Given the description of an element on the screen output the (x, y) to click on. 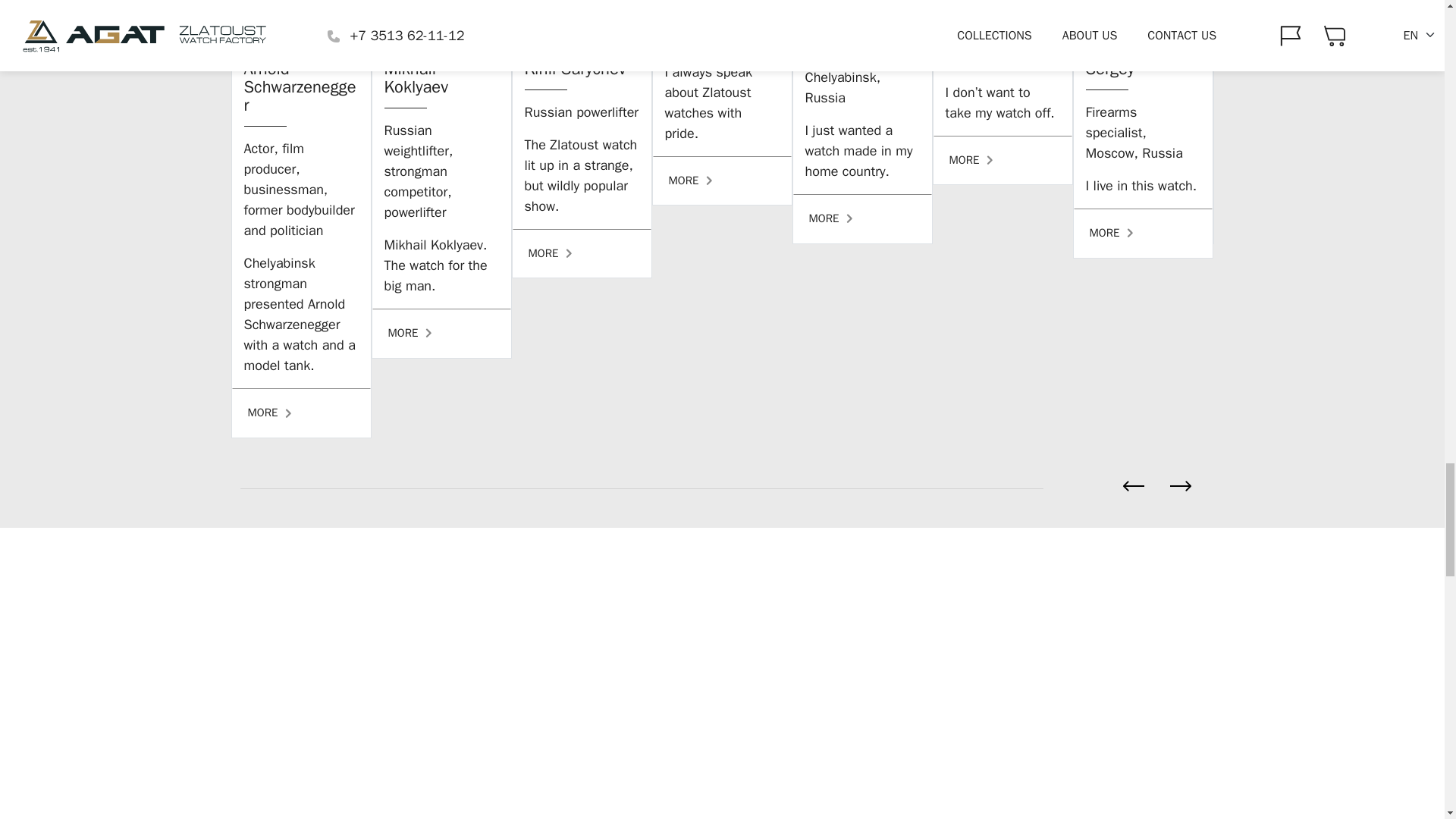
MORE (581, 253)
MORE (301, 412)
MORE (1143, 232)
MORE (1002, 160)
MORE (721, 180)
MORE (862, 218)
MORE (441, 332)
